Given the description of an element on the screen output the (x, y) to click on. 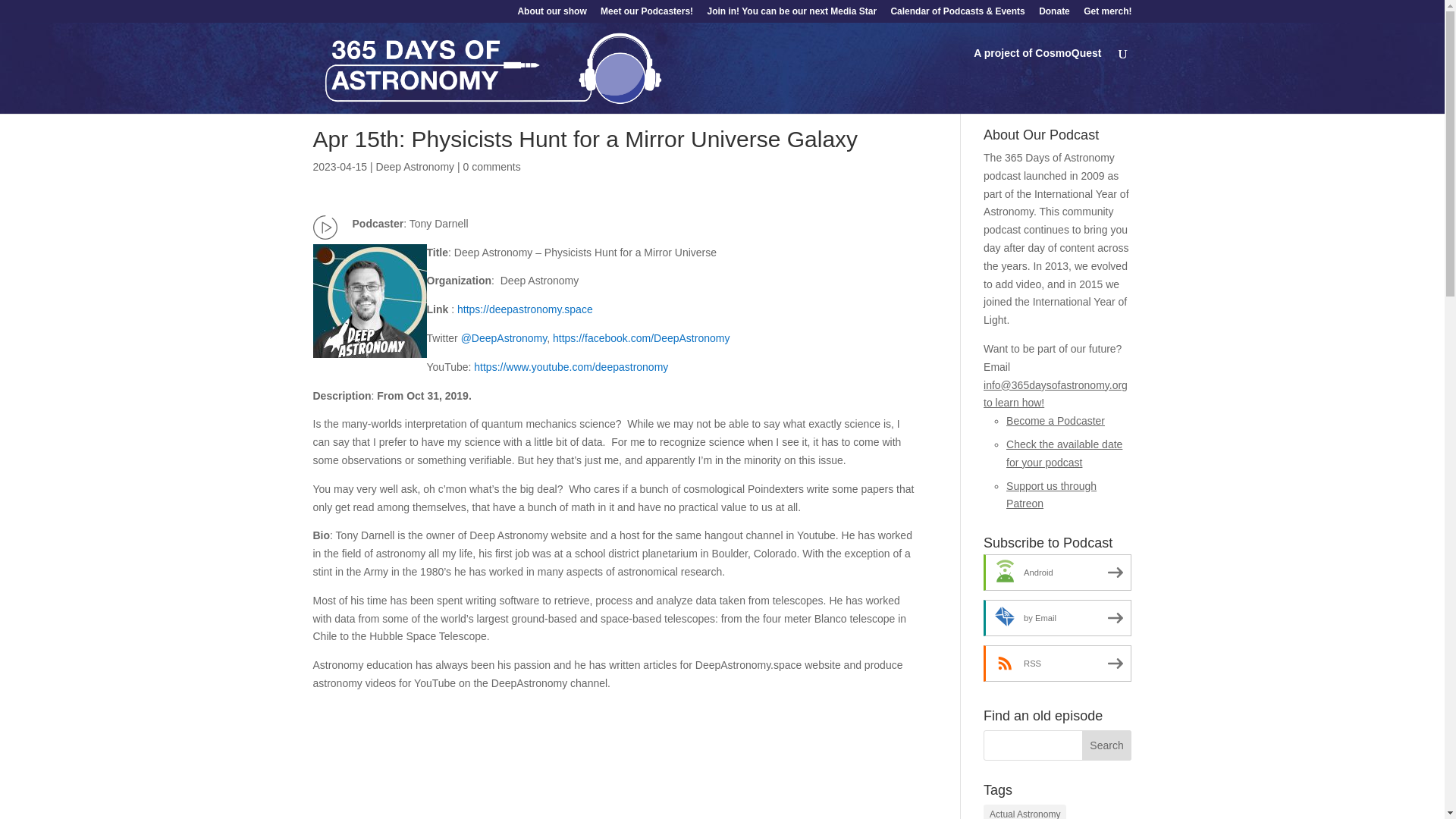
Actual Astronomy (1024, 811)
0 comments (491, 166)
A project of CosmoQuest (1037, 65)
Subscribe by Email (1057, 617)
Search (1106, 745)
Get merch! (1107, 14)
Become a Podcaster (1055, 420)
Check the available date for your podcast (1064, 453)
RSS (1057, 663)
Android (1057, 572)
